Given the description of an element on the screen output the (x, y) to click on. 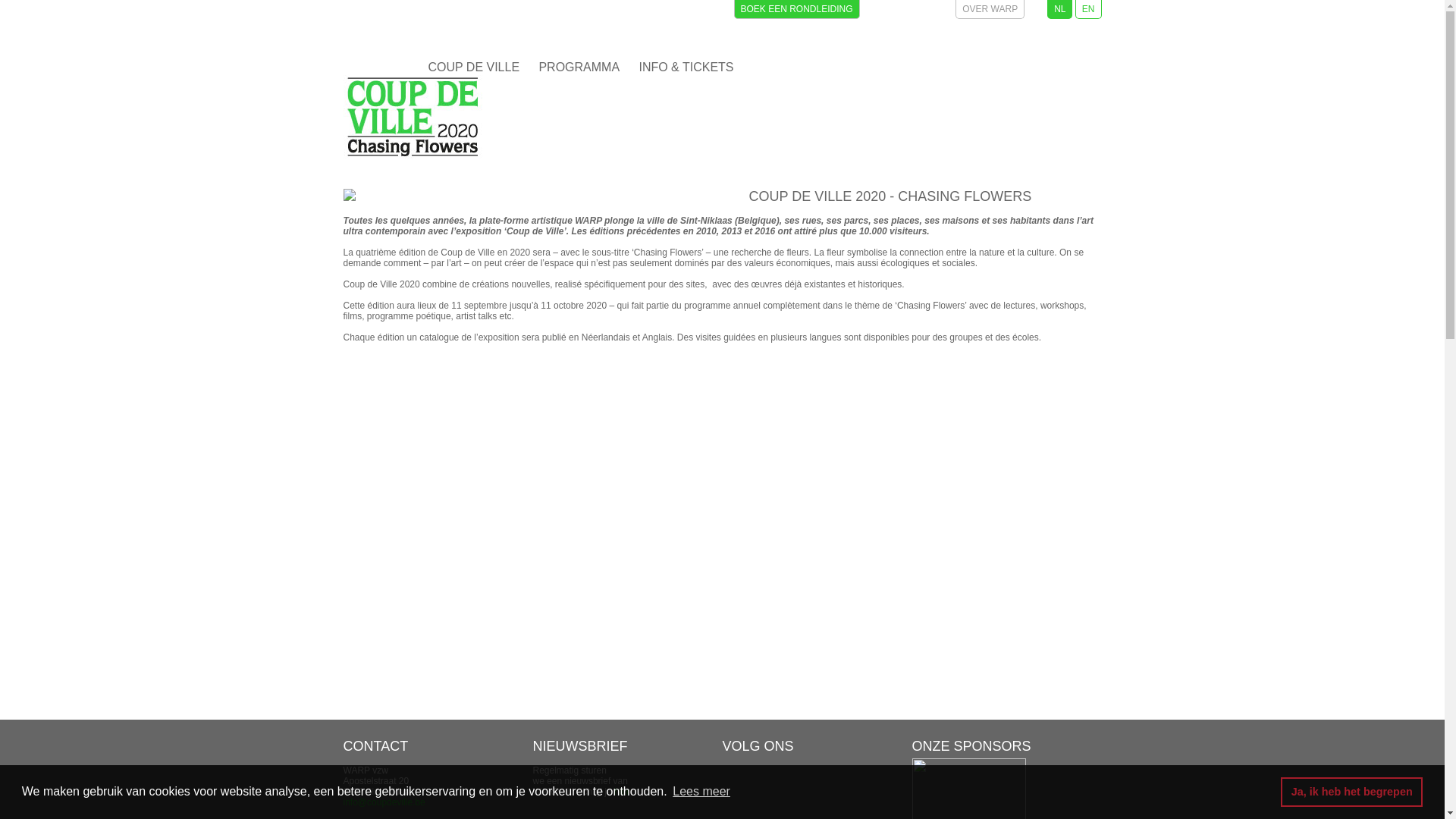
INFO & TICKETS Element type: text (685, 66)
Ja, ik heb het begrepen Element type: text (1351, 791)
Lees meer Element type: text (701, 791)
info@coupdeville.be Element type: text (383, 802)
PROGRAMMA Element type: text (578, 66)
hier Element type: text (621, 791)
BOEK EEN RONDLEIDING Element type: text (796, 9)
NL Element type: text (1059, 9)
COUP DE VILLE Element type: text (473, 66)
OVER WARP Element type: text (989, 9)
EN Element type: text (1088, 9)
